Given the description of an element on the screen output the (x, y) to click on. 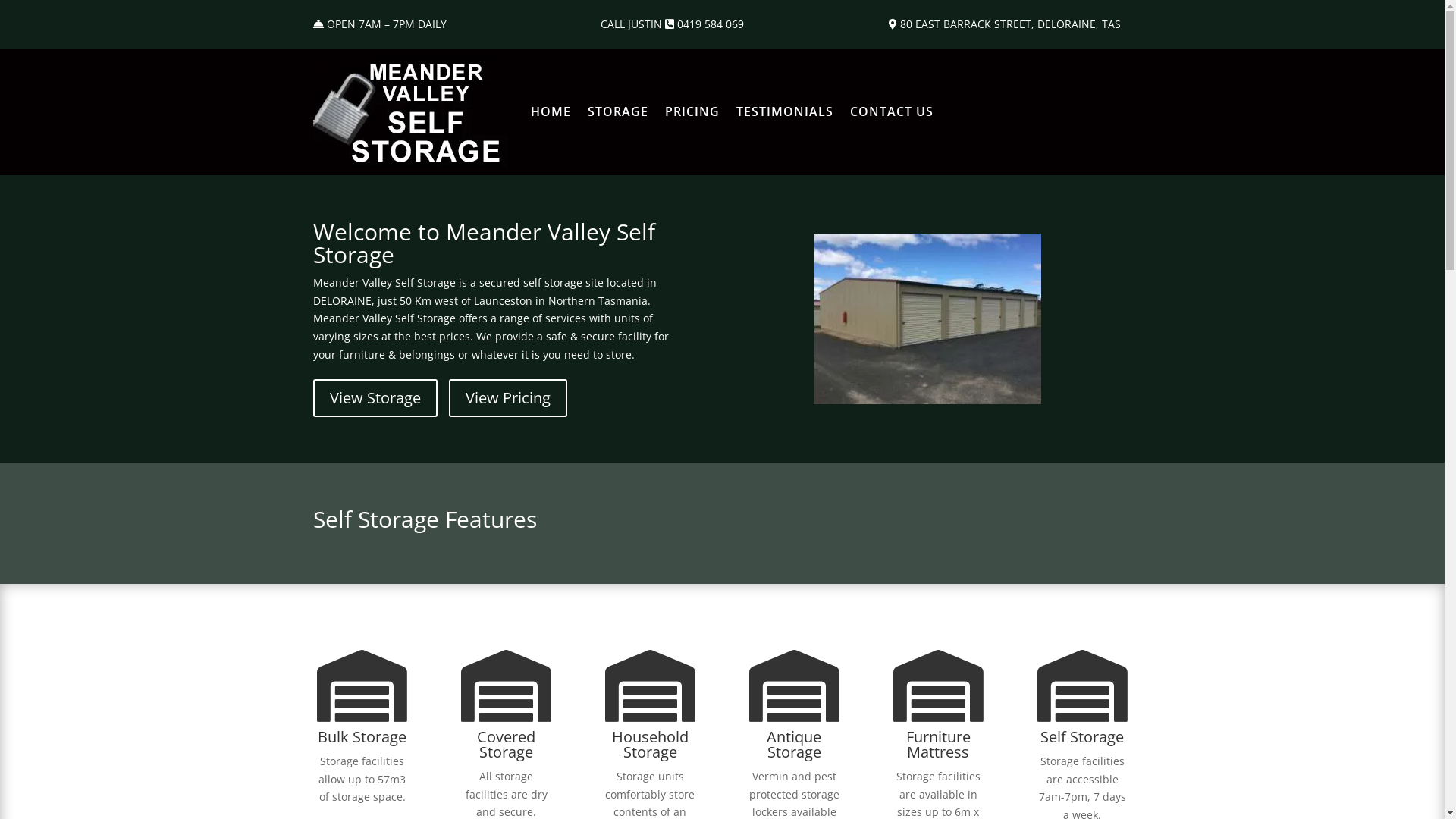
TESTIMONIALS Element type: text (783, 111)
CONTACT US Element type: text (890, 111)
View Pricing Element type: text (507, 398)
STORAGE Element type: text (616, 111)
HOME Element type: text (550, 111)
PRICING Element type: text (691, 111)
View Storage Element type: text (374, 398)
